Given the description of an element on the screen output the (x, y) to click on. 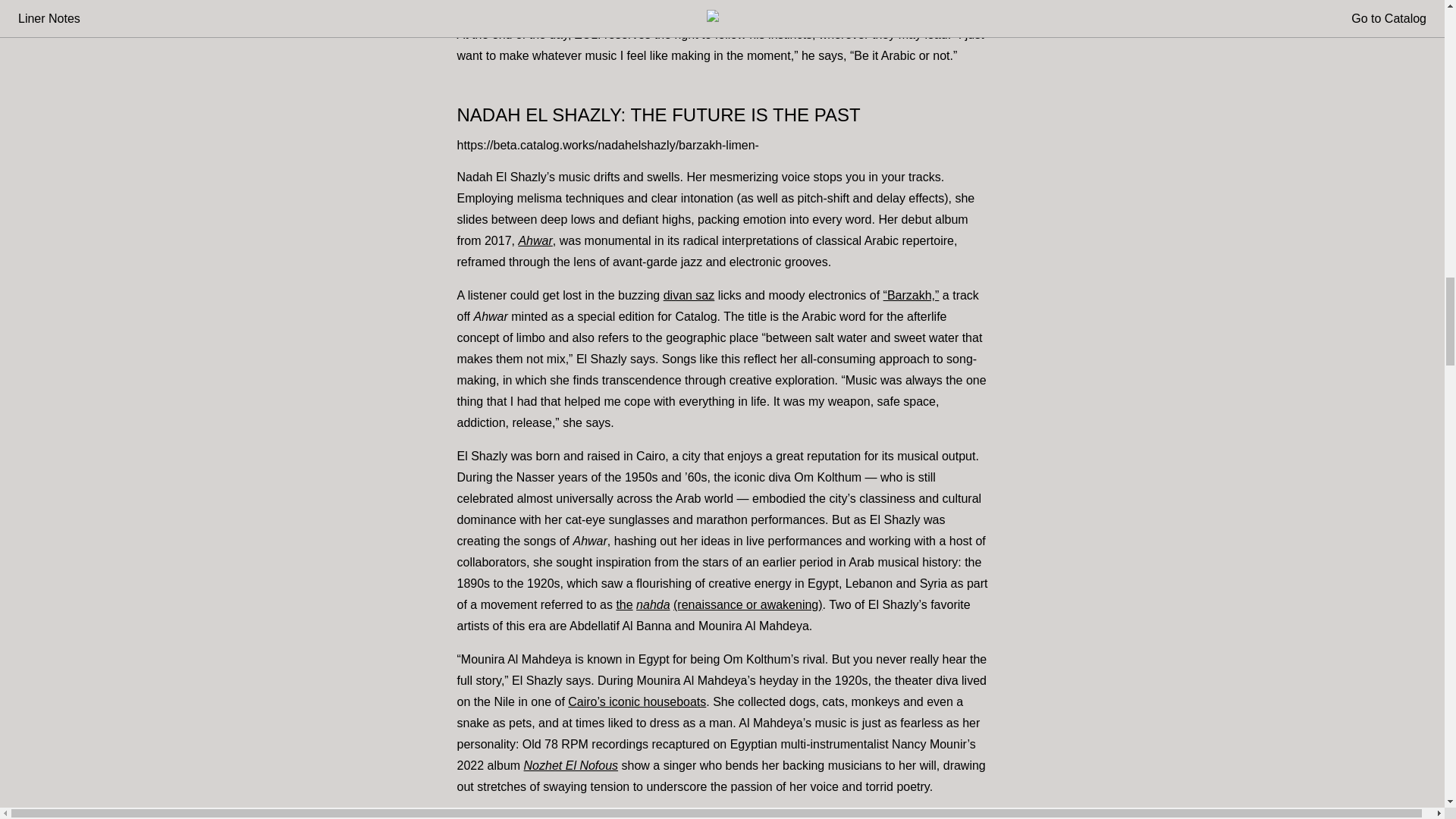
divan saz (688, 295)
Ahwar (534, 240)
the (623, 604)
Nozhet El Nofous (571, 765)
nahda (652, 604)
